Given the description of an element on the screen output the (x, y) to click on. 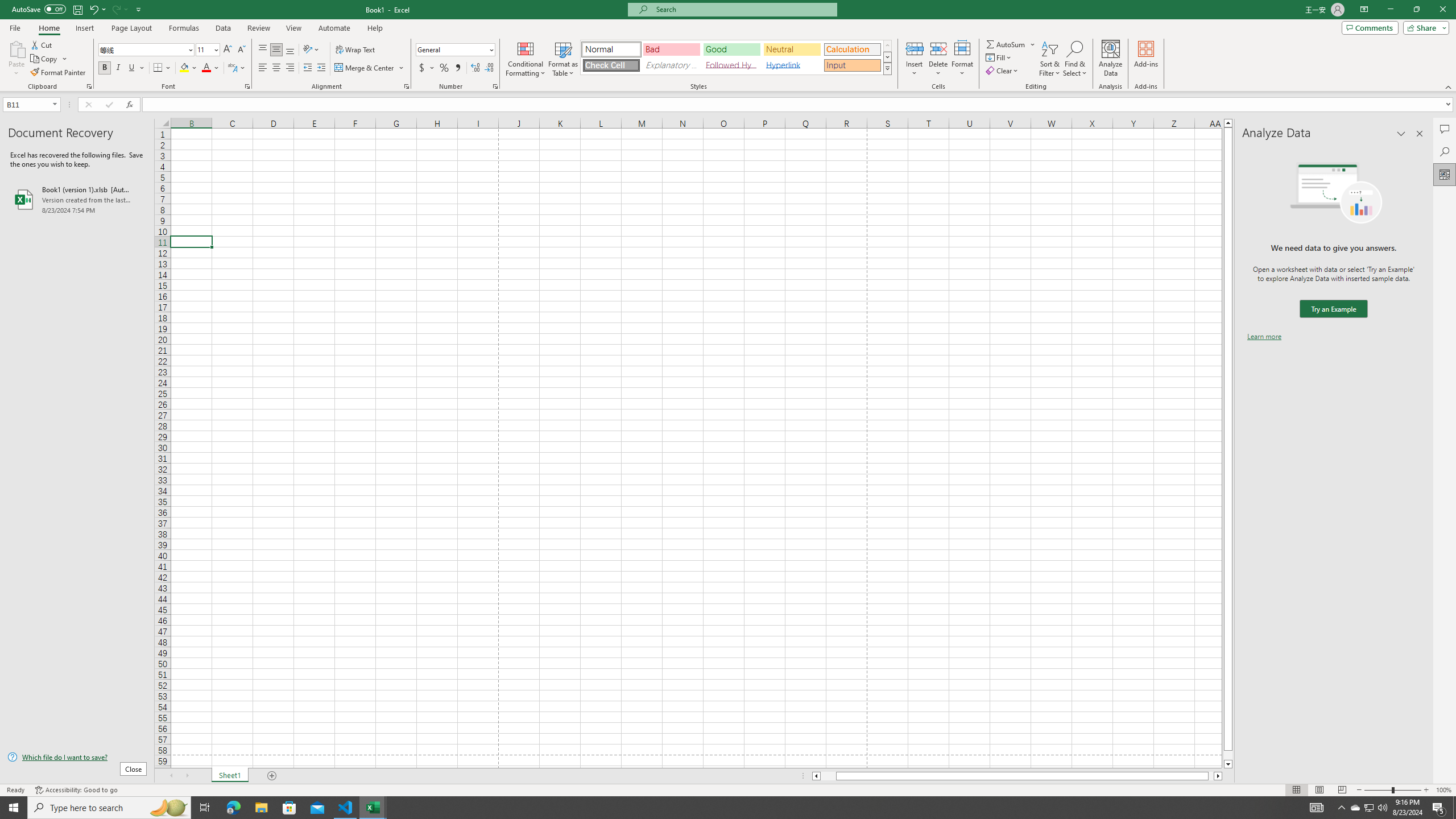
Format (962, 58)
Merge & Center (365, 67)
Copy (45, 58)
Find & Select (1075, 58)
